Given the description of an element on the screen output the (x, y) to click on. 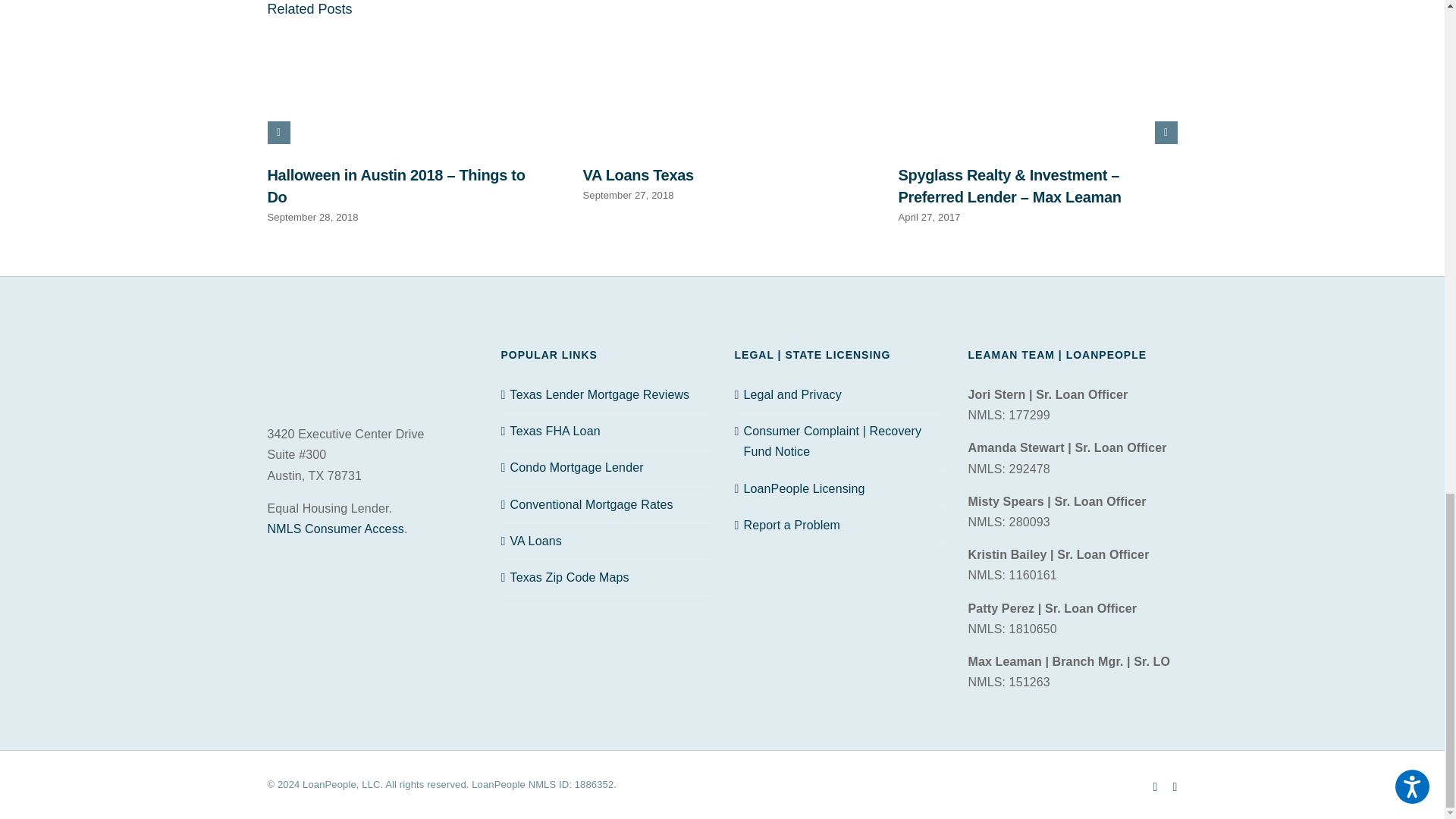
Texas Lender Mortgage Reviews (605, 394)
Texas FHA Loan (605, 430)
VA Loans Texas (637, 175)
Condo Mortgage Lender (605, 467)
NMLS Consumer Access (334, 528)
VA Loans Texas (637, 175)
